Given the description of an element on the screen output the (x, y) to click on. 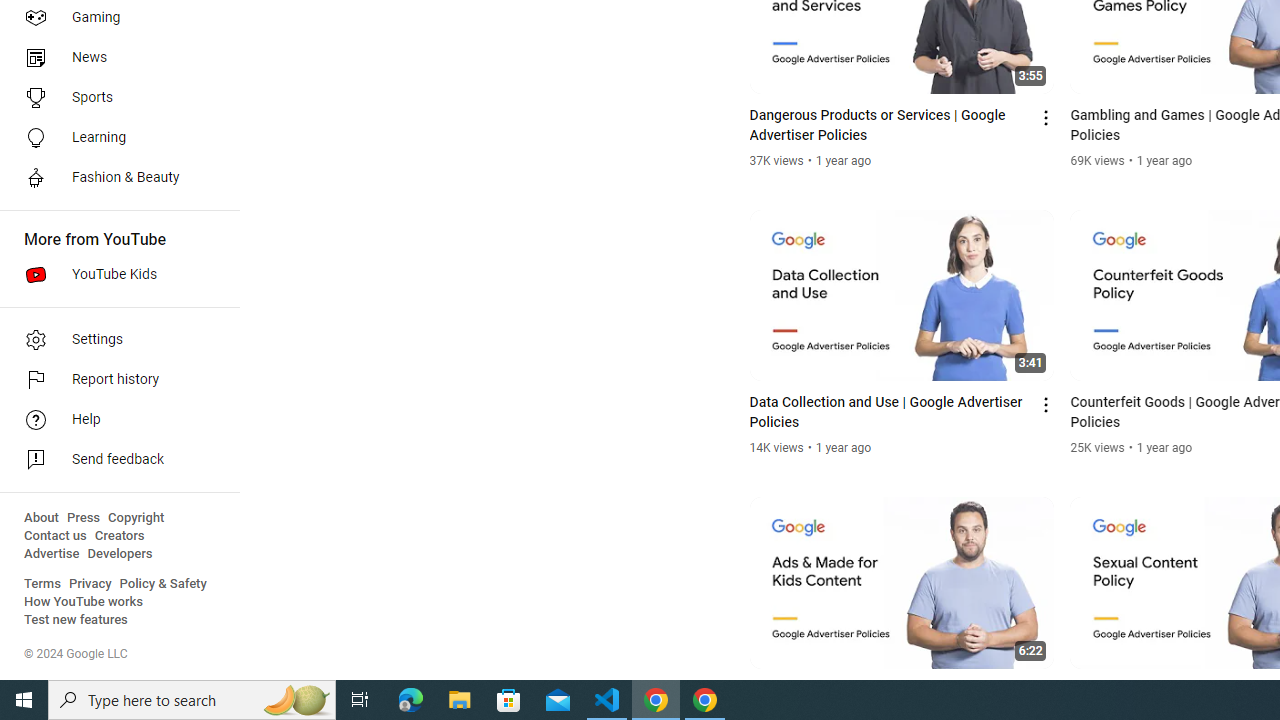
Creators (118, 536)
Developers (120, 554)
YouTube Kids (113, 274)
Help (113, 419)
Report history (113, 380)
How YouTube works (83, 602)
Action menu (1046, 691)
Contact us (55, 536)
Advertise (51, 554)
